Given the description of an element on the screen output the (x, y) to click on. 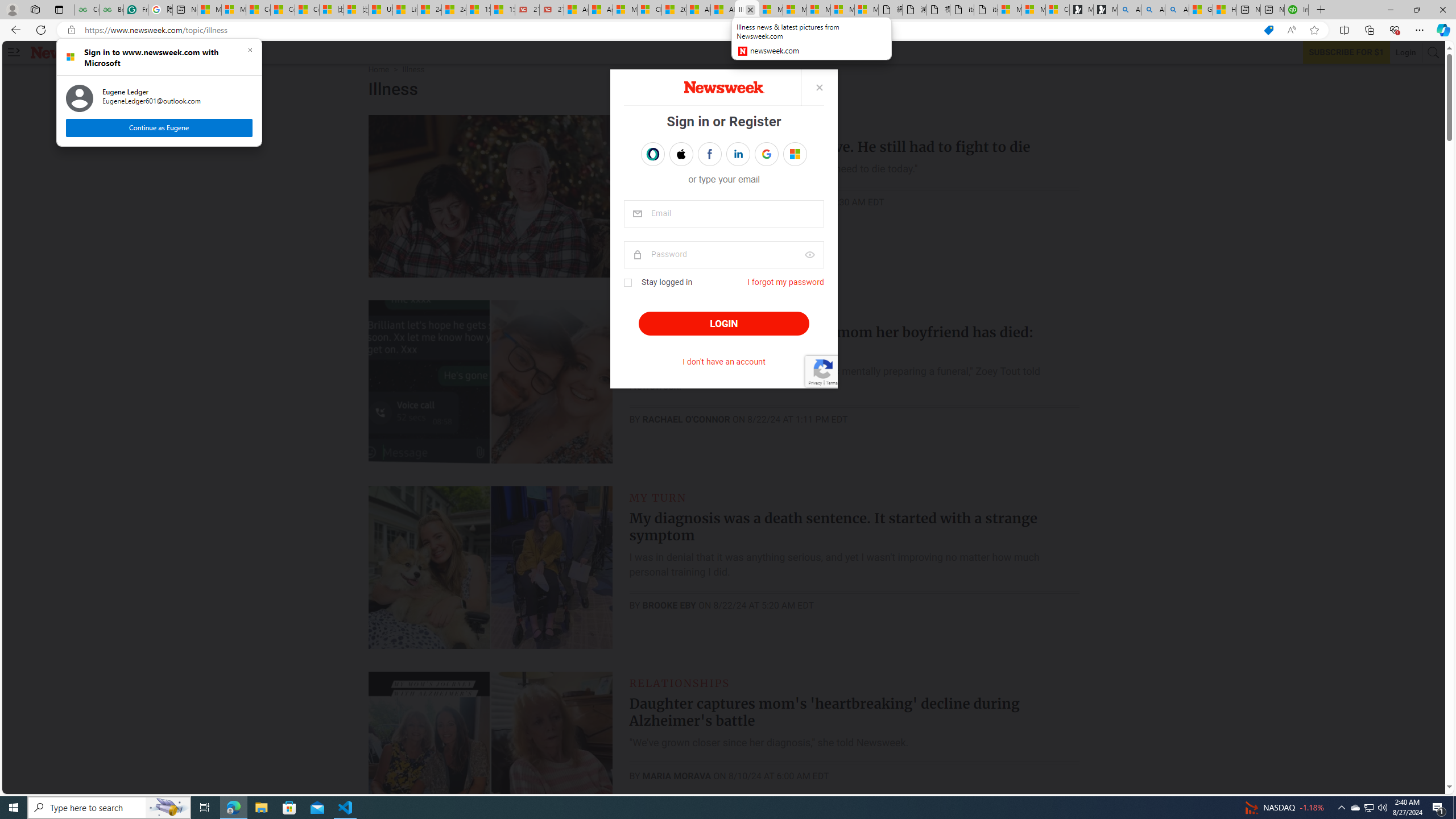
Action Center, 1 new notification (1439, 807)
I forgot my password (785, 282)
How to Use a TV as a Computer Monitor (1224, 9)
Illness news & latest pictures from Newsweek.com (747, 9)
MY TURN (657, 497)
Sign in with OPENPASS (652, 154)
